Given the description of an element on the screen output the (x, y) to click on. 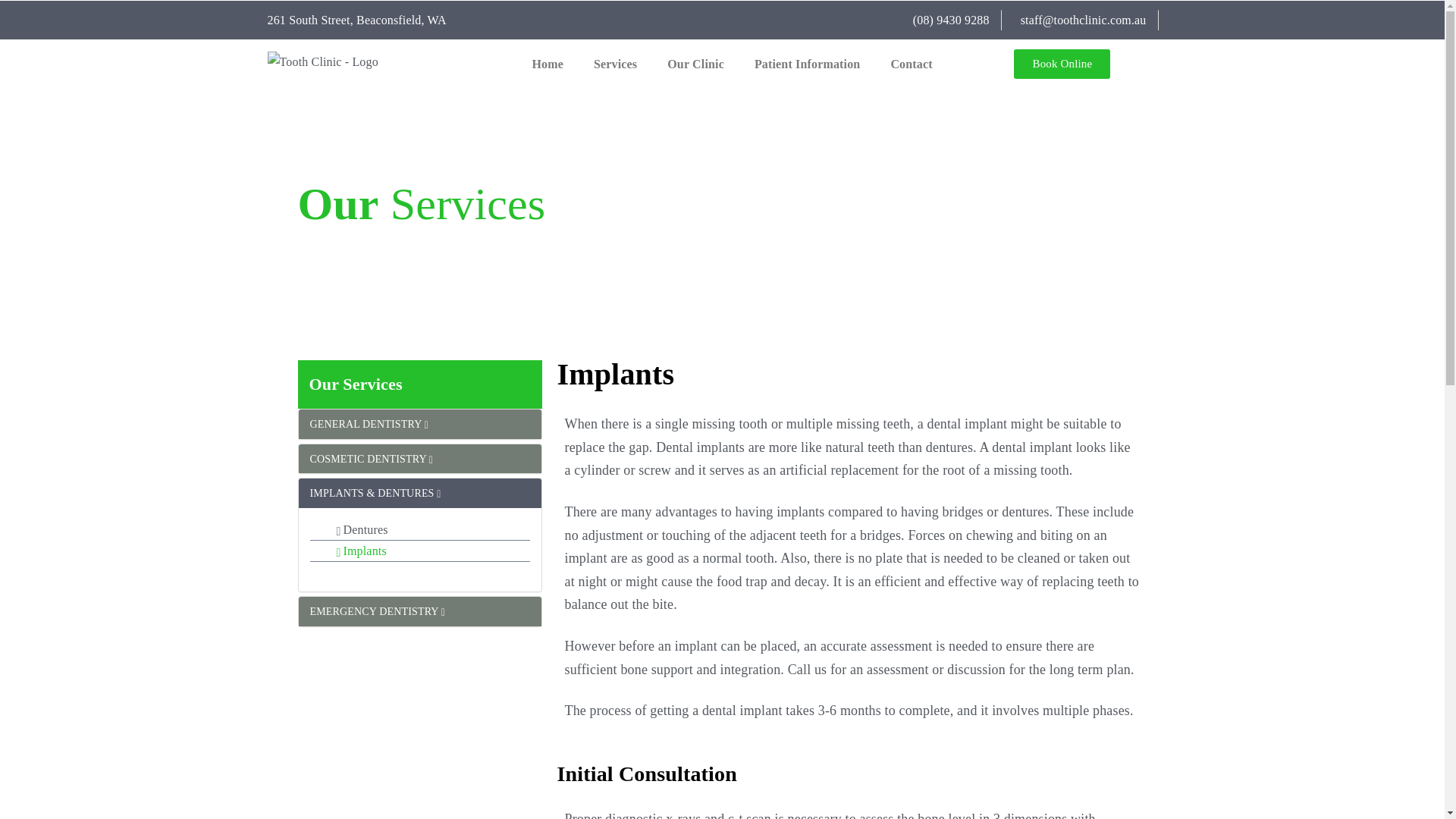
Book Online (1061, 63)
Dentures (362, 529)
Patient Information (807, 63)
Services (615, 63)
Home (547, 63)
Contact (911, 63)
EMERGENCY DENTISTRY (377, 611)
GENERAL DENTISTRY (368, 423)
COSMETIC DENTISTRY (371, 459)
261 South Street, Beaconsfield, WA (355, 19)
